Given the description of an element on the screen output the (x, y) to click on. 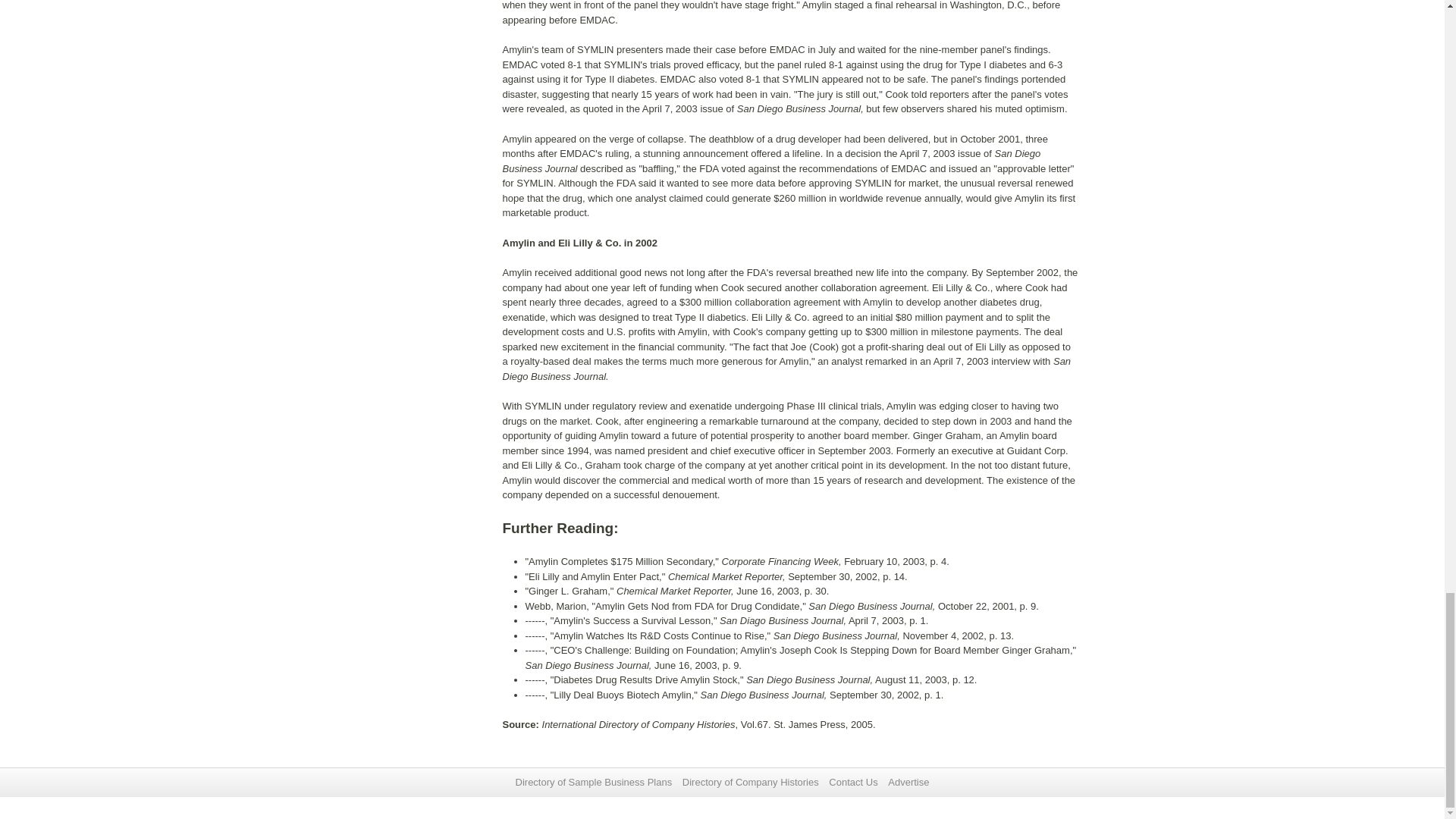
Directory of Sample Business Plans (593, 781)
Advertise (908, 781)
Contact Us (852, 781)
Directory of Company Histories (750, 781)
